Given the description of an element on the screen output the (x, y) to click on. 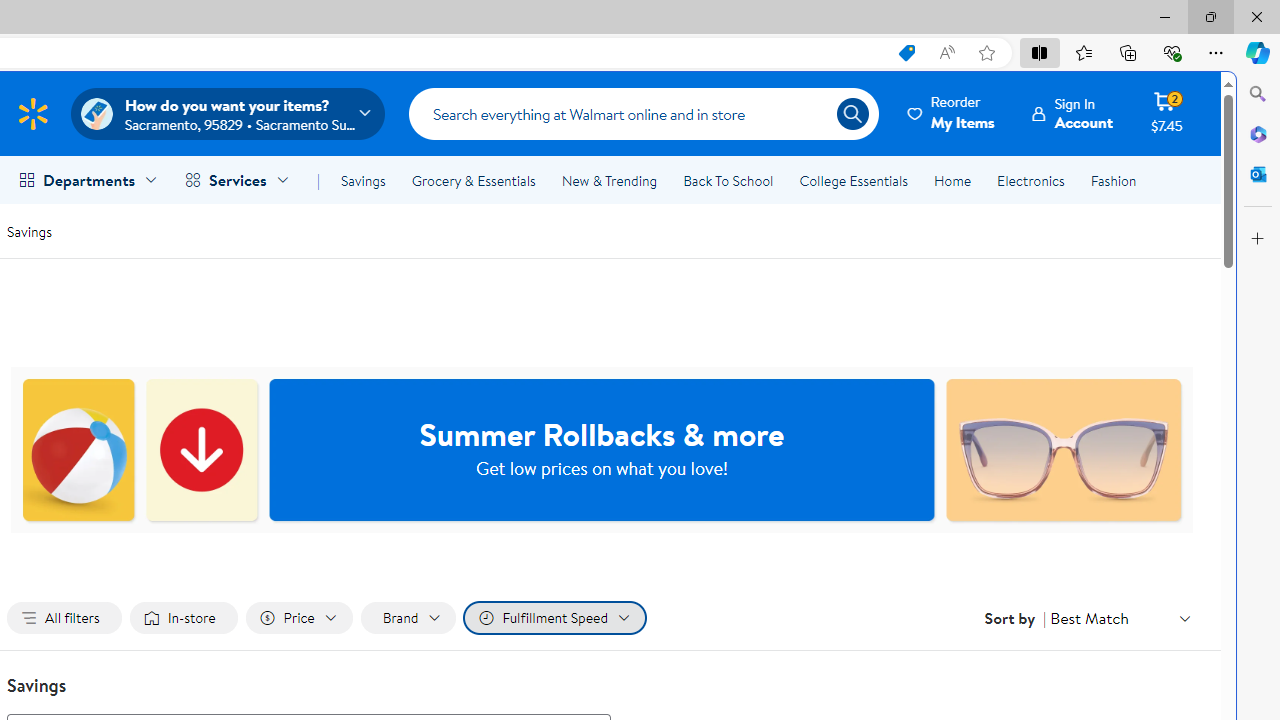
Summer Rollbacks & more Get low prices on what you love! (601, 449)
Fashion (1113, 180)
Filter by In-store (183, 618)
New & Trending (608, 180)
ReorderMy Items (952, 113)
Fashion (1113, 180)
College Essentials (852, 180)
Grocery & Essentials (473, 180)
